Given the description of an element on the screen output the (x, y) to click on. 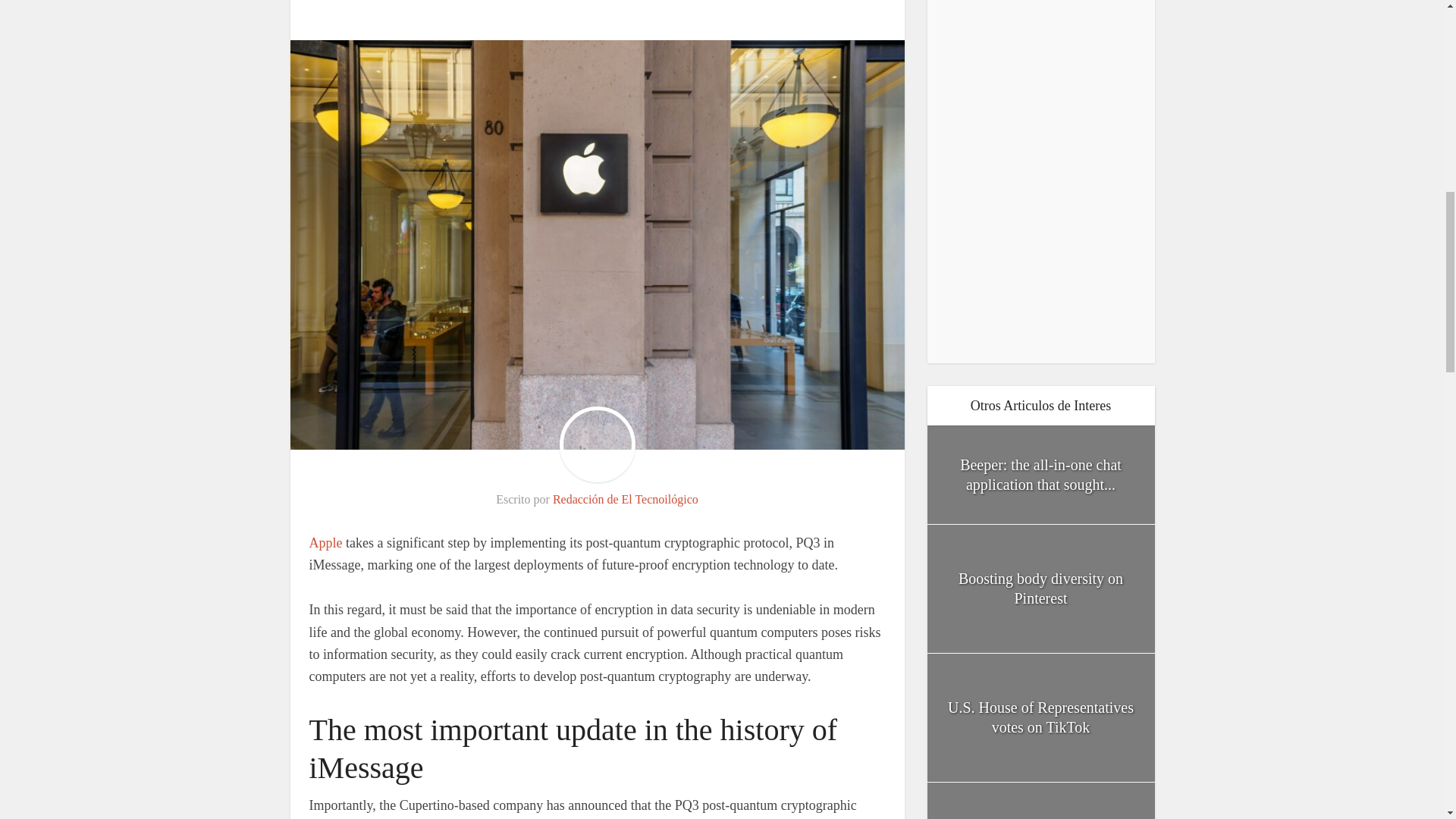
Advertisement (1040, 174)
Advertisement (597, 8)
Spotify videos, a revolution in the music experience (1040, 800)
Apple (325, 542)
U.S. House of Representatives votes on TikTok (1040, 717)
Boosting body diversity on Pinterest (1040, 588)
U.S. House of Representatives votes on TikTok (1040, 717)
Boosting body diversity on Pinterest (1040, 588)
